Given the description of an element on the screen output the (x, y) to click on. 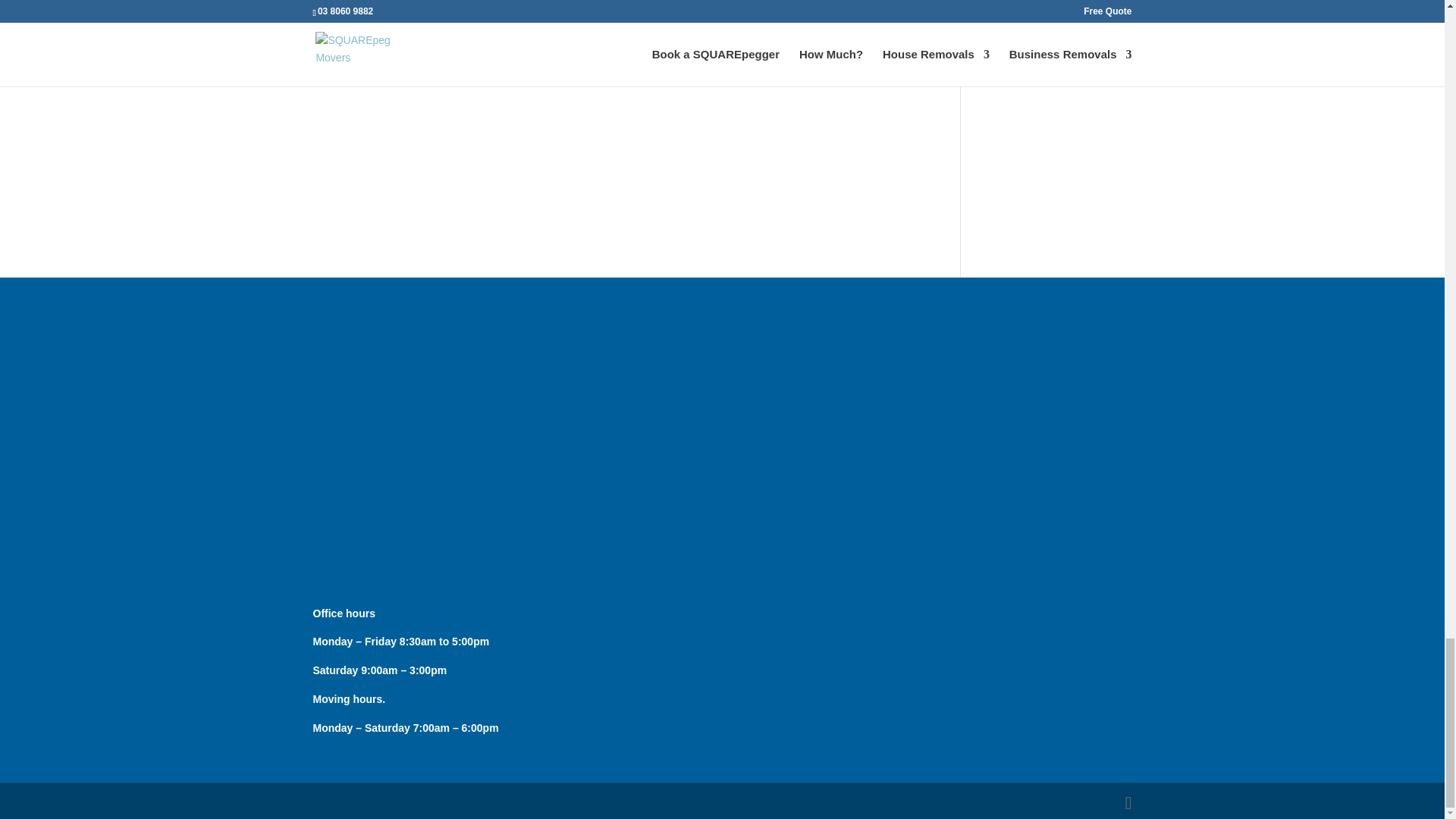
First port of call (379, 5)
squarepegmovers (369, 25)
Posts by squarepegmovers (369, 25)
Tips (503, 25)
